Given the description of an element on the screen output the (x, y) to click on. 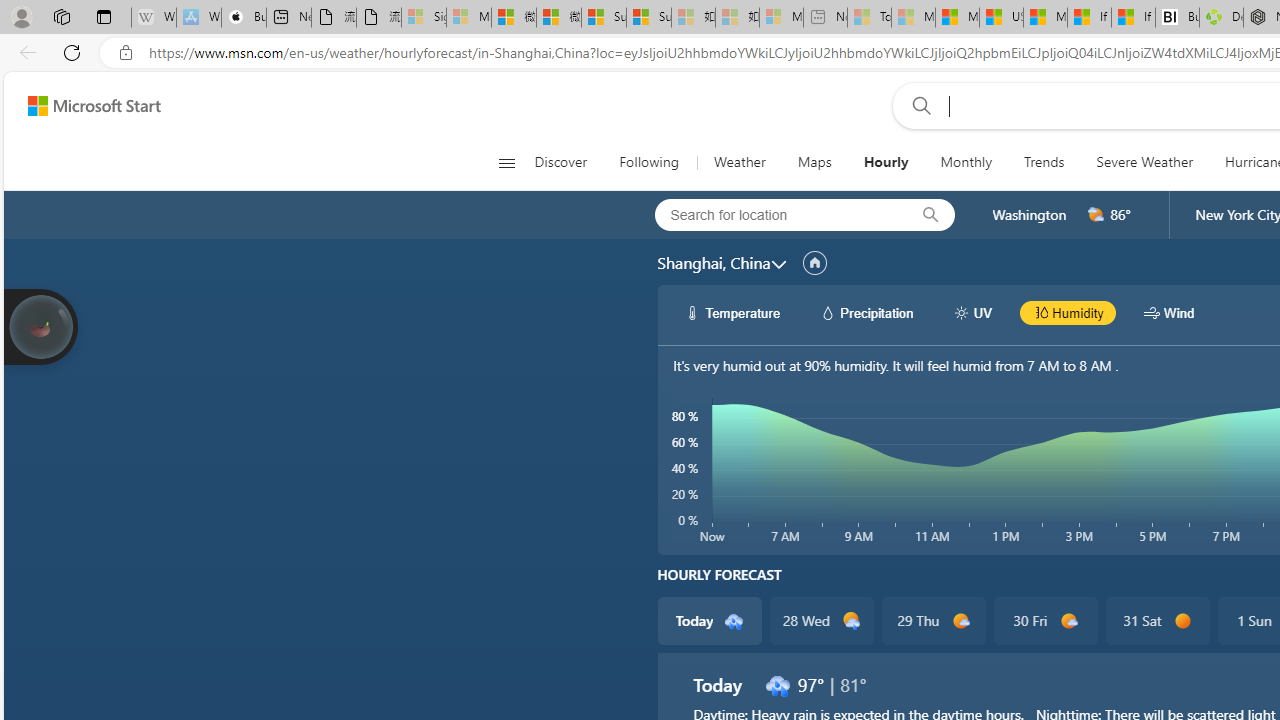
Trends (1044, 162)
Join us in planting real trees to help our planet! (40, 325)
